Given the description of an element on the screen output the (x, y) to click on. 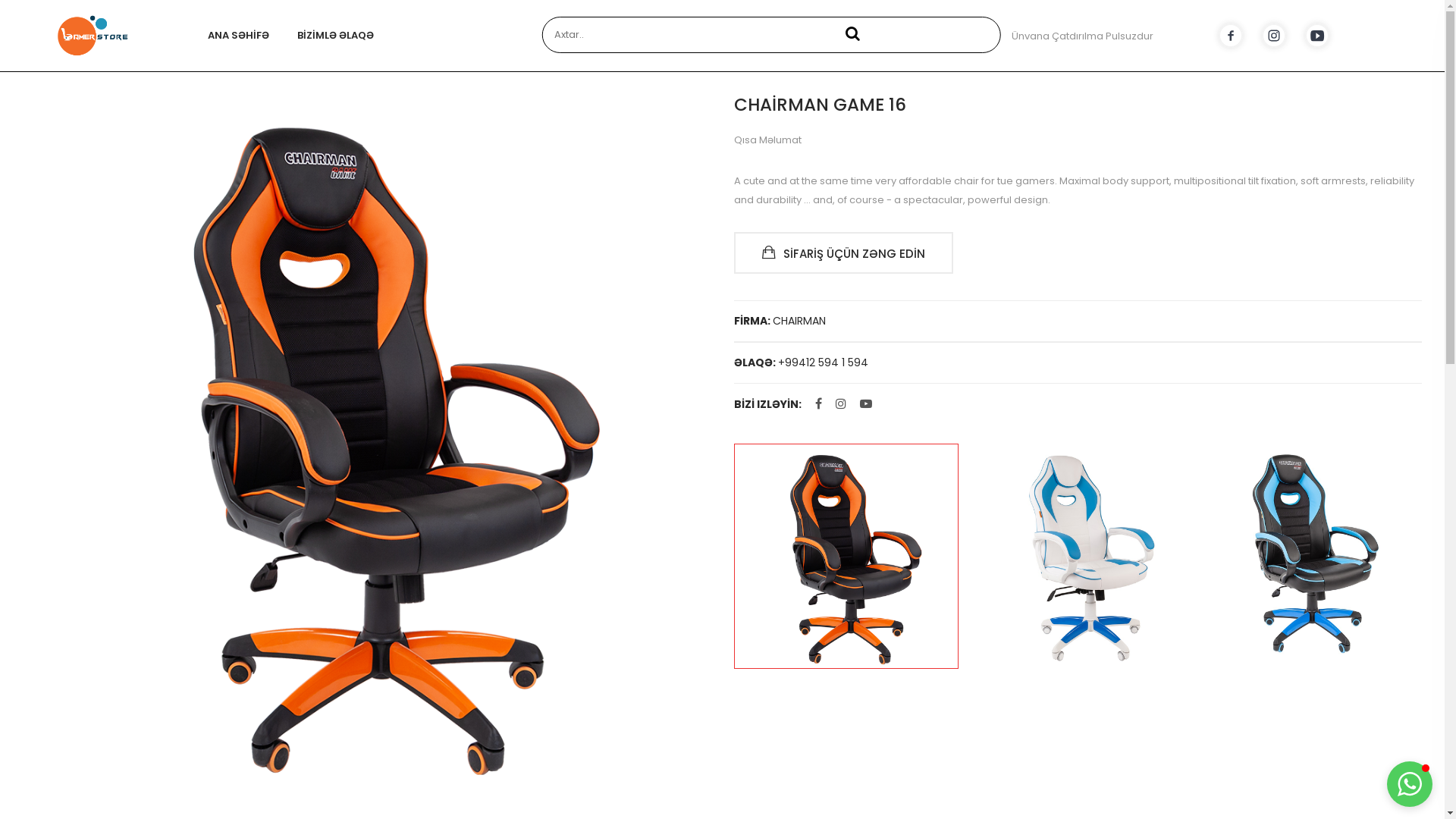
CHAIRMAN Element type: text (798, 320)
YOU-TUBE Element type: text (1317, 35)
+99412 594 1 594 Element type: text (823, 362)
INSTAGRAM Element type: text (1273, 35)
FACEBOOK Element type: text (1230, 35)
